Given the description of an element on the screen output the (x, y) to click on. 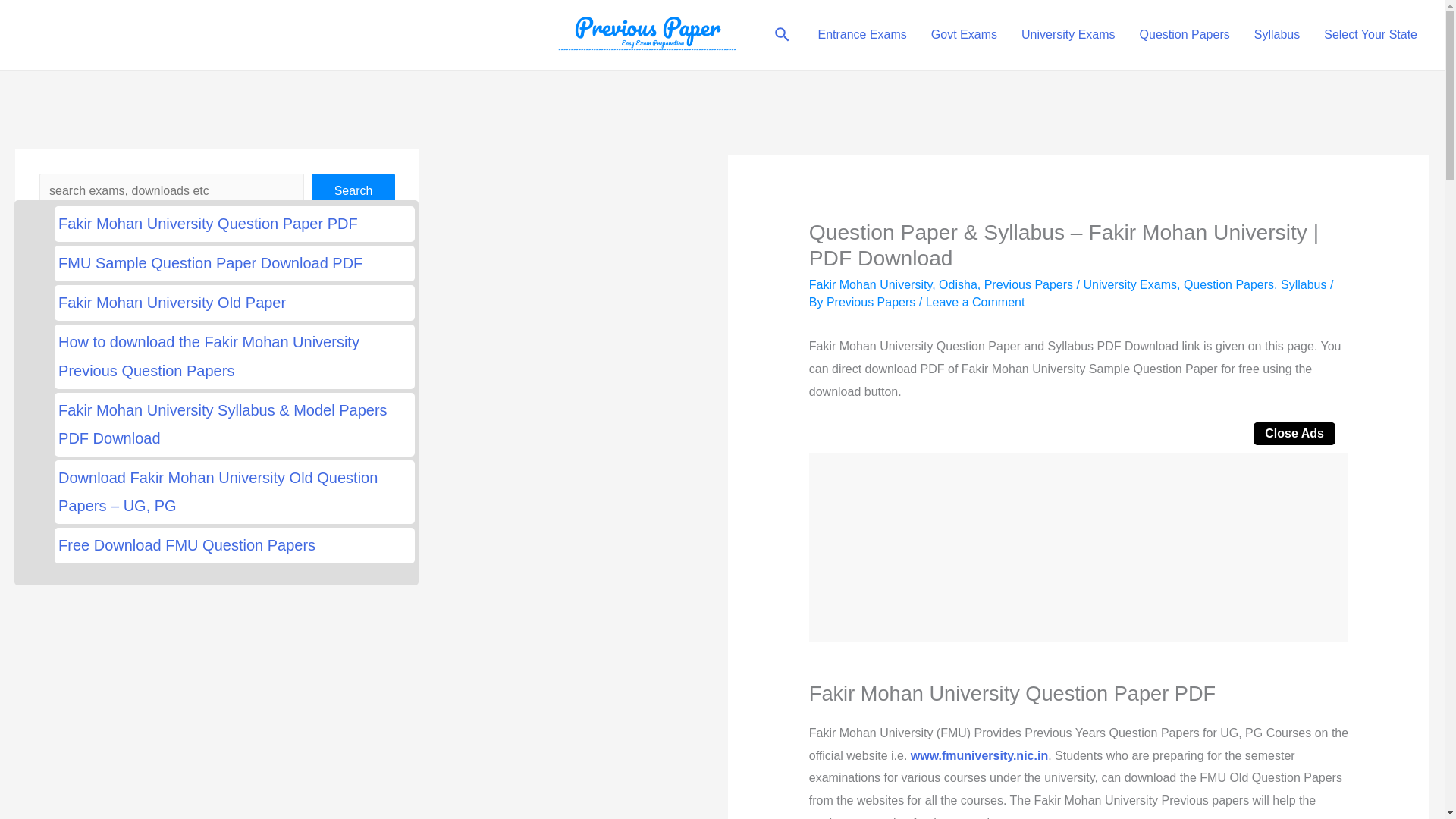
FMU Sample Question Paper Download PDF (234, 263)
Free Download FMU Question Papers (234, 545)
Entrance Exams (861, 34)
Odisha (957, 284)
Question Papers (1228, 284)
Syllabus (1303, 284)
University Exams (1067, 34)
Fakir Mohan University Question Paper PDF (234, 223)
Syllabus (1276, 34)
Search (353, 190)
Leave a Comment (975, 301)
Select Your State (1370, 34)
View all posts by Previous Papers (872, 301)
University Exams (1129, 284)
Previous Papers (1028, 284)
